Given the description of an element on the screen output the (x, y) to click on. 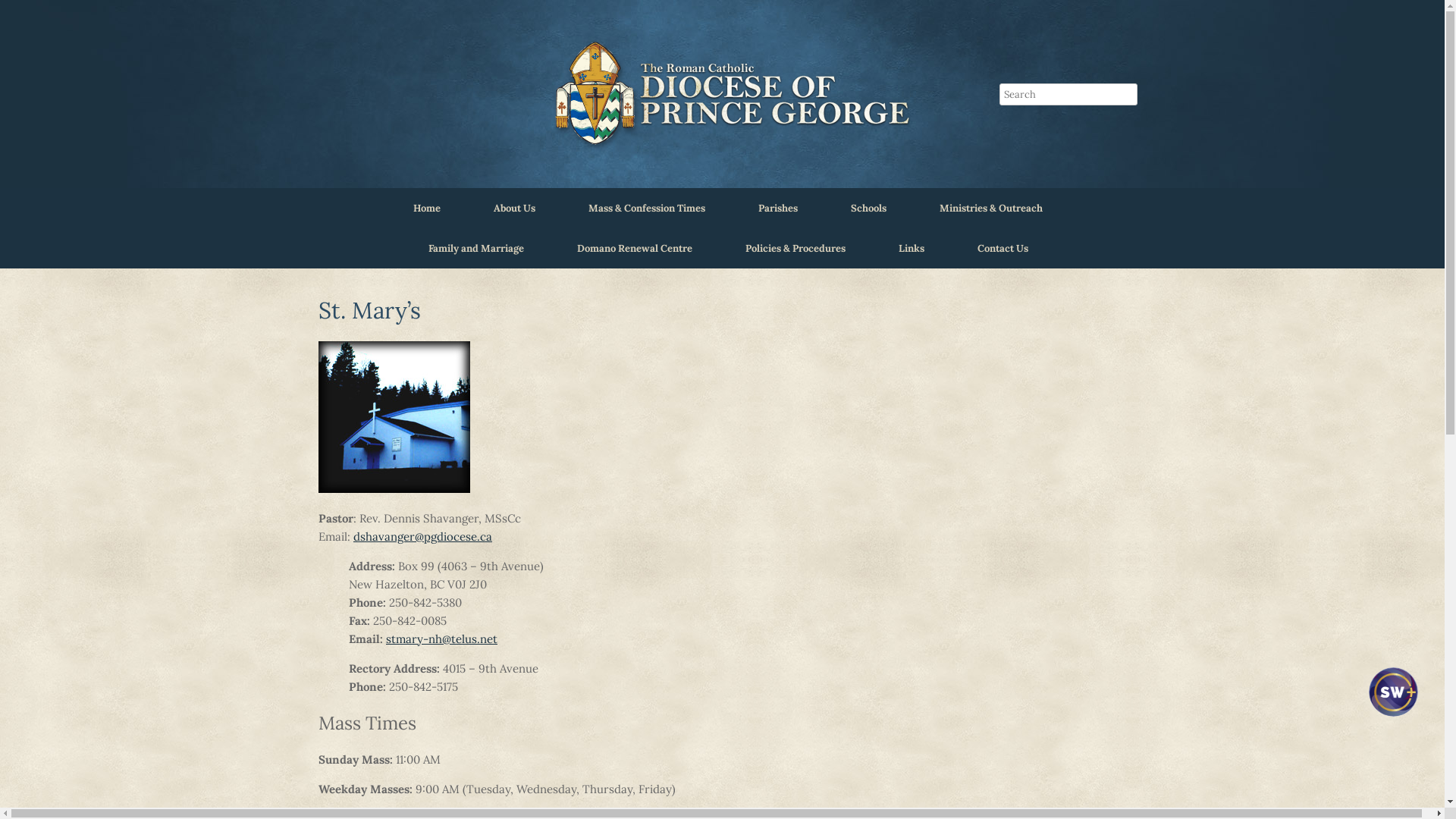
Policies & Procedures Element type: text (795, 248)
Mass & Confession Times Element type: text (646, 208)
Contact Us Element type: text (1002, 248)
Schools Element type: text (868, 208)
dshavanger@pgdiocese.ca Element type: text (422, 536)
SW Plus Element type: hover (1391, 729)
About Us Element type: text (514, 208)
Family and Marriage Element type: text (475, 248)
stmary-nh@telus.net Element type: text (441, 637)
Links Element type: text (911, 248)
Domano Renewal Centre Element type: text (634, 248)
Parishes Element type: text (777, 208)
Ministries & Outreach Element type: text (991, 208)
The Roman Catholic Diocese Of Prince George Element type: hover (727, 93)
Home Element type: text (426, 208)
